Given the description of an element on the screen output the (x, y) to click on. 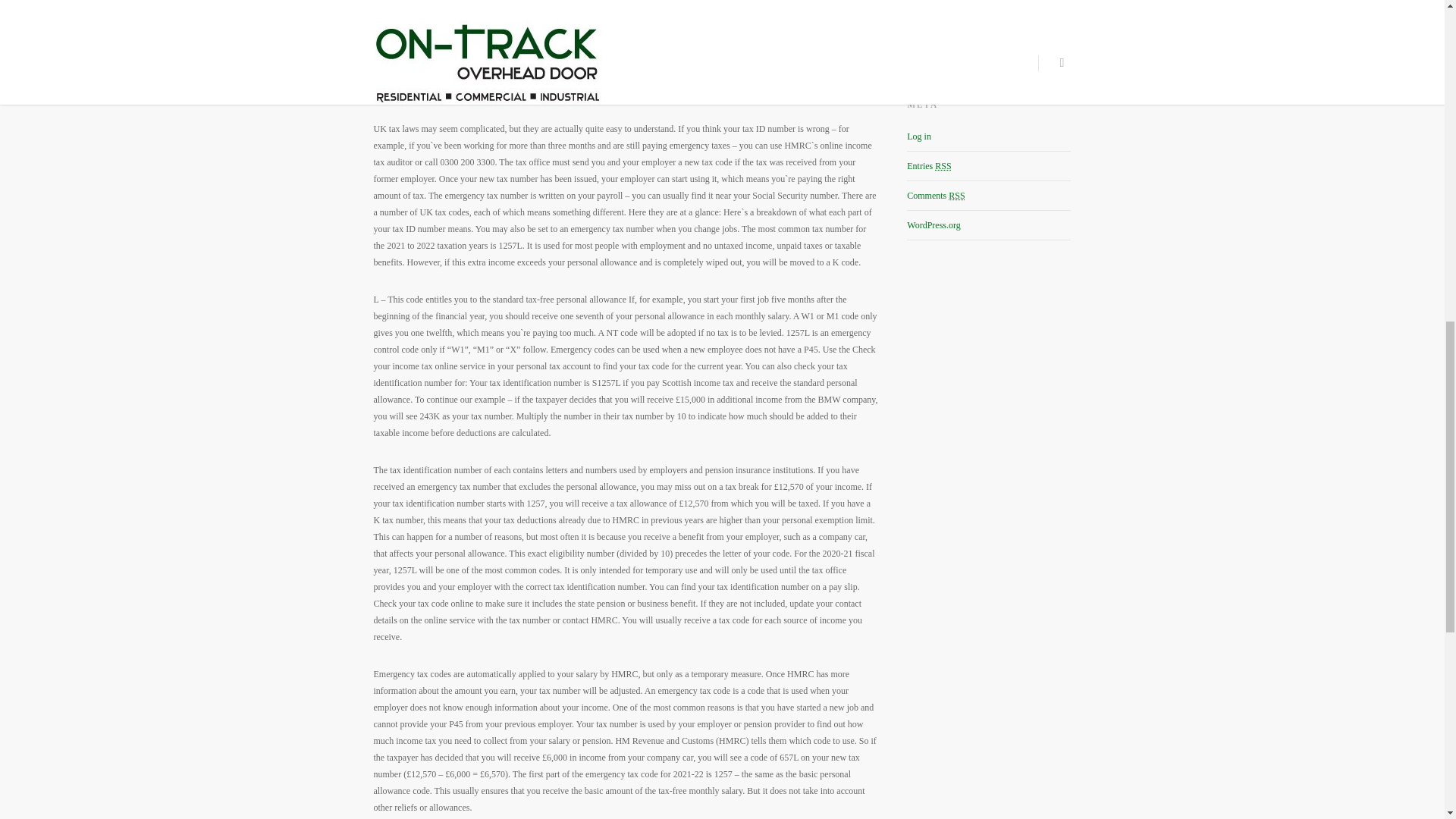
Log in (919, 136)
Really Simple Syndication (942, 165)
Really Simple Syndication (956, 195)
Comments RSS (935, 195)
Entries RSS (928, 165)
WordPress.org (933, 225)
